Given the description of an element on the screen output the (x, y) to click on. 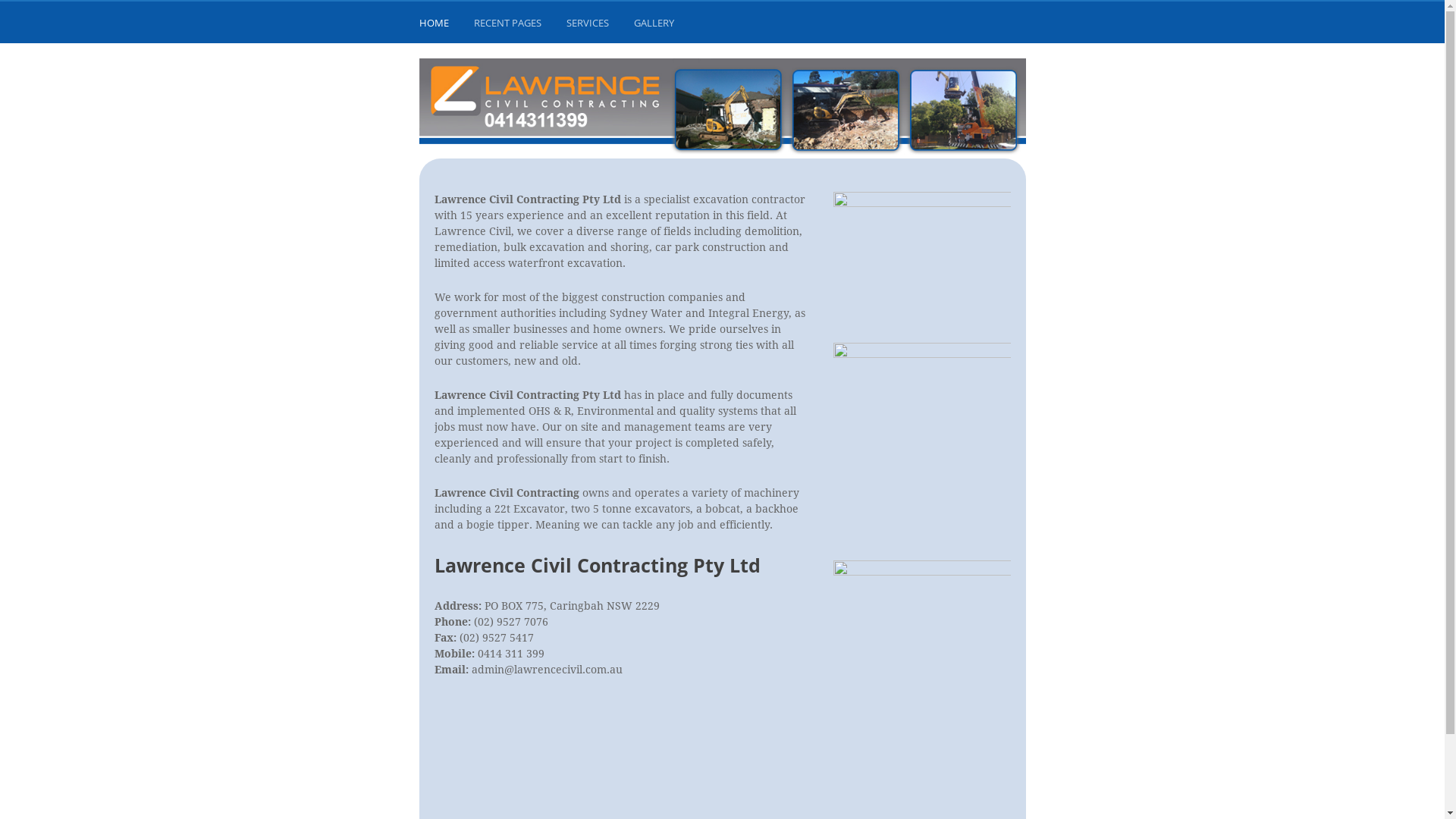
Page1-05 Element type: hover (921, 257)
SERVICES Element type: text (588, 26)
RECENT PAGES Element type: text (508, 26)
HOME Element type: text (434, 26)
Search Element type: text (29, 16)
Lawrence Civil Element type: hover (721, 108)
Page1-02-large Element type: hover (921, 442)
Page1-05-large Element type: hover (921, 659)
GALLERY Element type: text (655, 26)
